Given the description of an element on the screen output the (x, y) to click on. 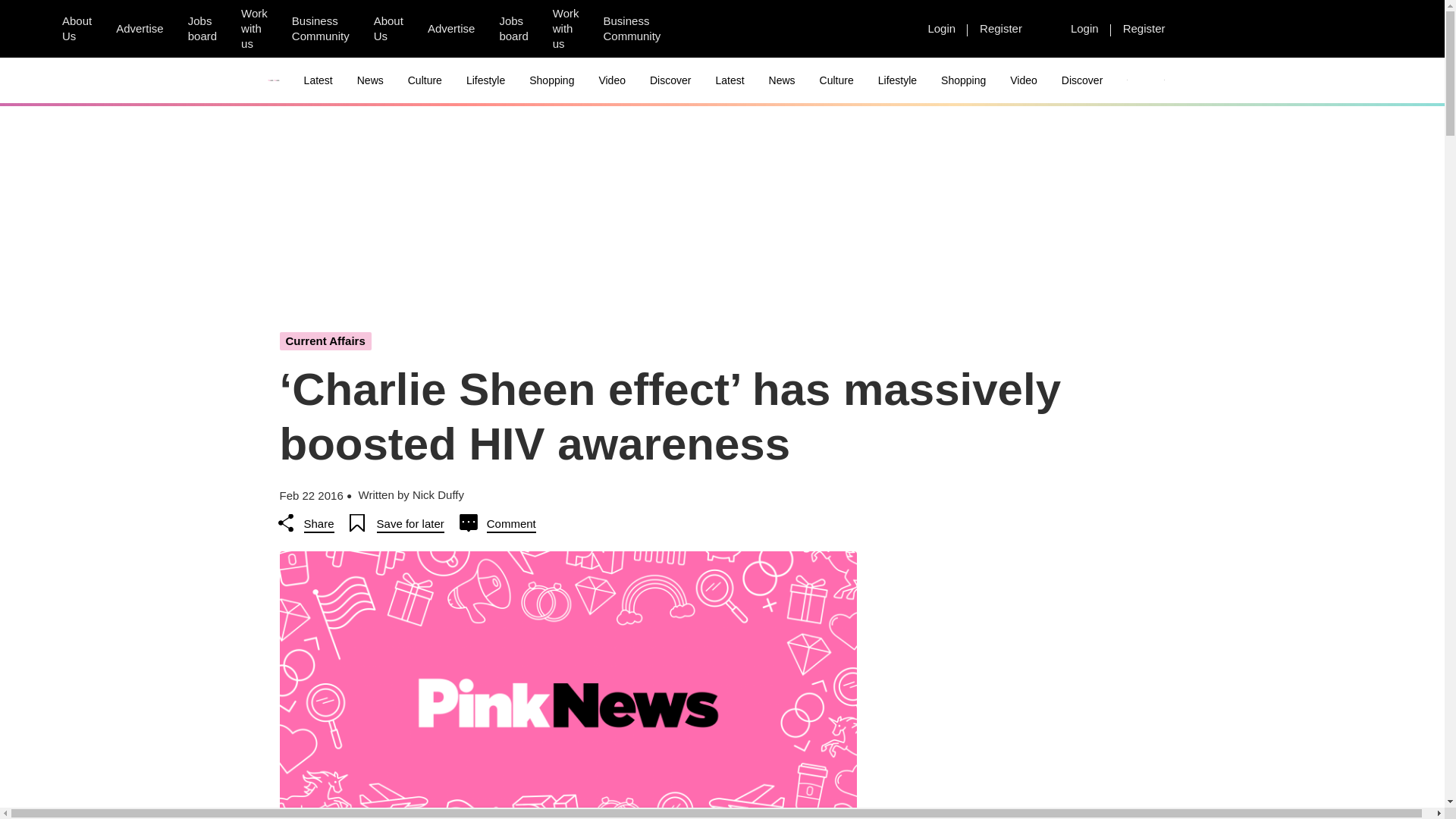
Login (941, 28)
About Us (387, 28)
News (370, 79)
Work with us (565, 28)
Business Community (631, 28)
Jobs board (202, 28)
Register (1143, 28)
Register (1000, 28)
Advertise (450, 28)
Advertise (139, 28)
Follow PinkNews on LinkedIn (885, 28)
Login (1084, 28)
About Us (76, 28)
Follow PinkNews on LinkedIn (775, 28)
Jobs board (513, 28)
